Given the description of an element on the screen output the (x, y) to click on. 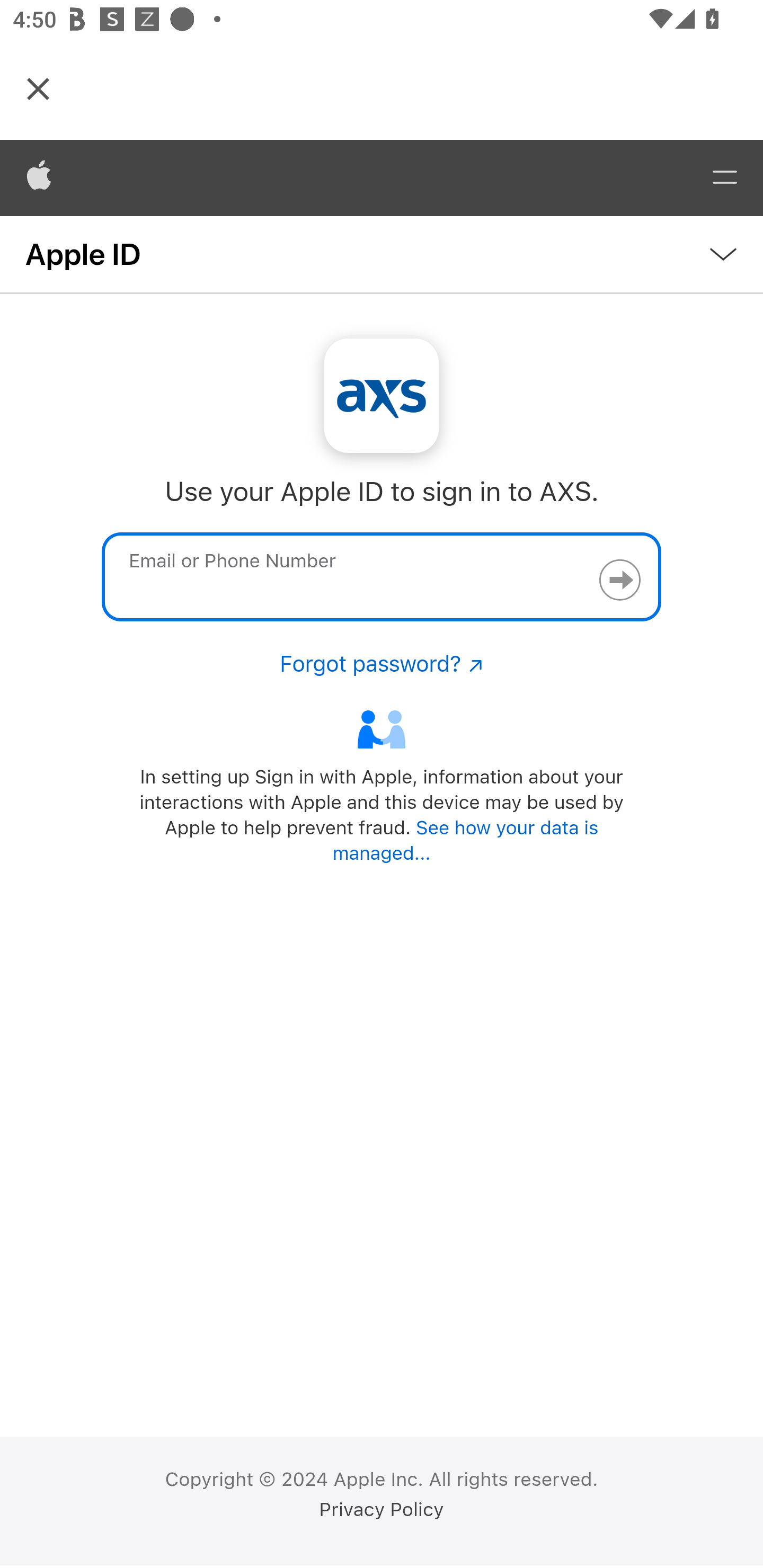
Close (38, 88)
Apple (38, 177)
Menu (724, 177)
Continue (618, 579)
Privacy Policy (381, 1509)
